Given the description of an element on the screen output the (x, y) to click on. 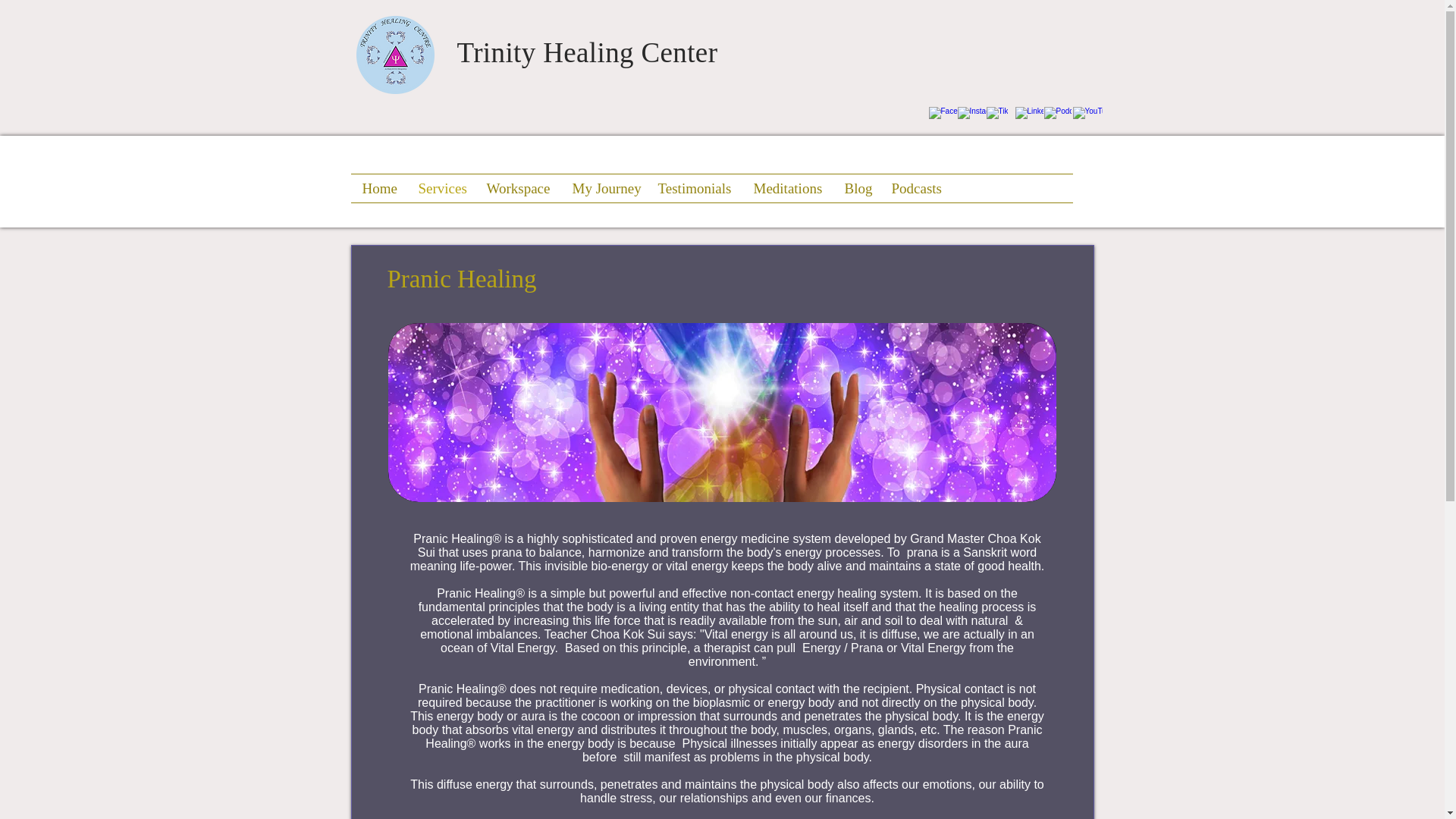
Workspace (517, 188)
Podcasts (915, 188)
Testimonials (693, 188)
Blog (855, 188)
Services (440, 188)
Home (378, 188)
Meditations (786, 188)
My Journey (603, 188)
